Given the description of an element on the screen output the (x, y) to click on. 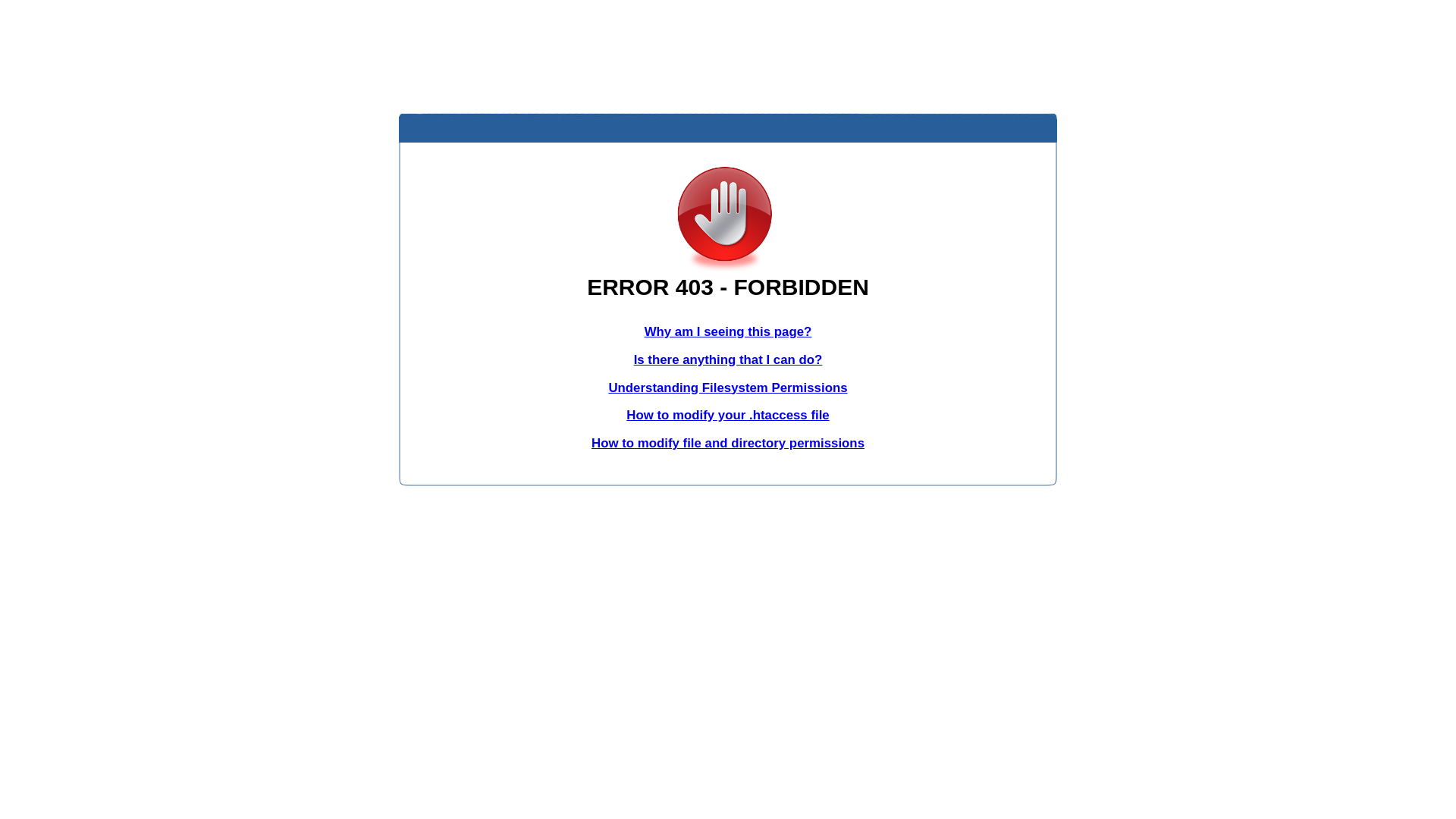
Is there anything that I can do? Element type: text (727, 359)
How to modify file and directory permissions Element type: text (727, 443)
Understanding Filesystem Permissions Element type: text (727, 387)
How to modify your .htaccess file Element type: text (727, 414)
Why am I seeing this page? Element type: text (728, 331)
